Given the description of an element on the screen output the (x, y) to click on. 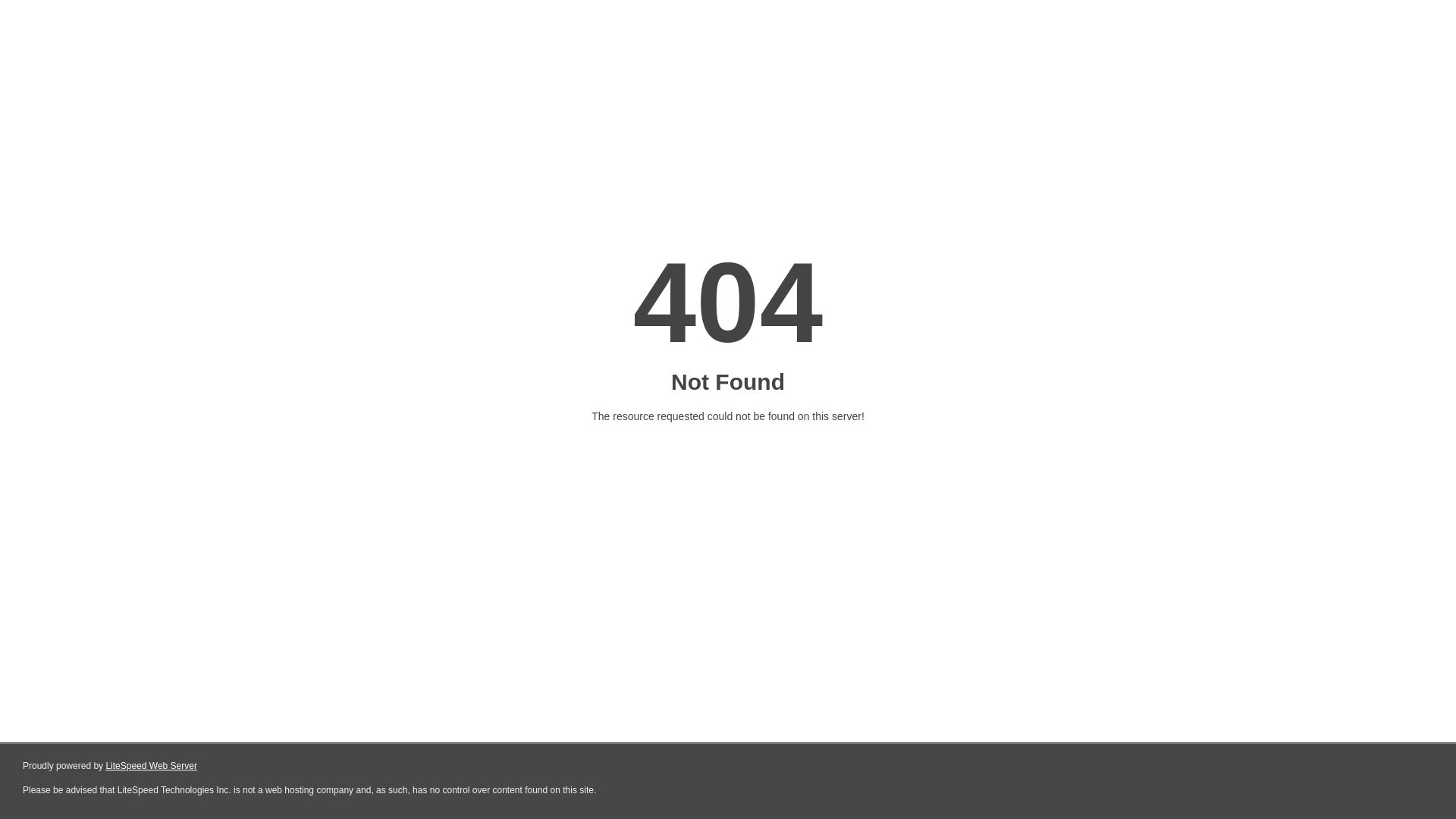
LiteSpeed Web Server Element type: text (151, 765)
